Given the description of an element on the screen output the (x, y) to click on. 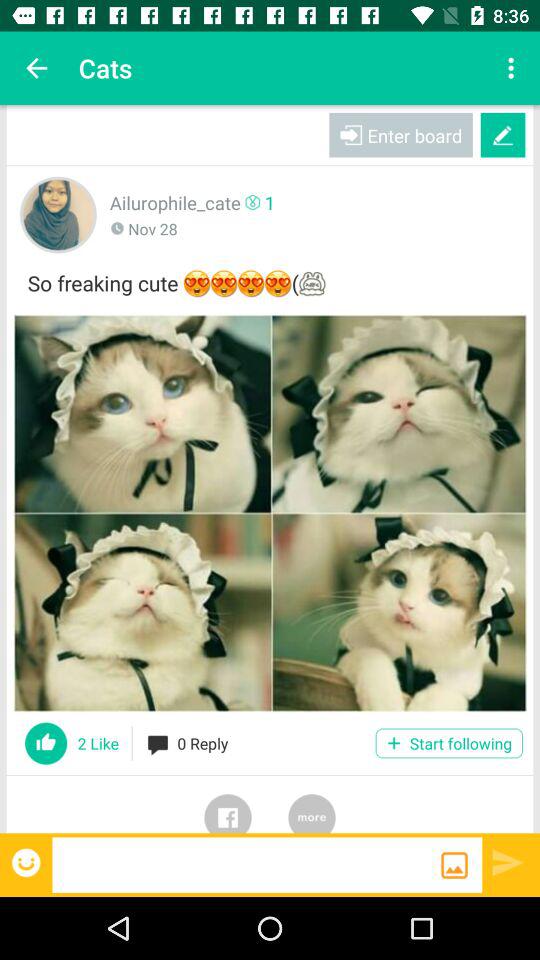
move forward (508, 862)
